Given the description of an element on the screen output the (x, y) to click on. 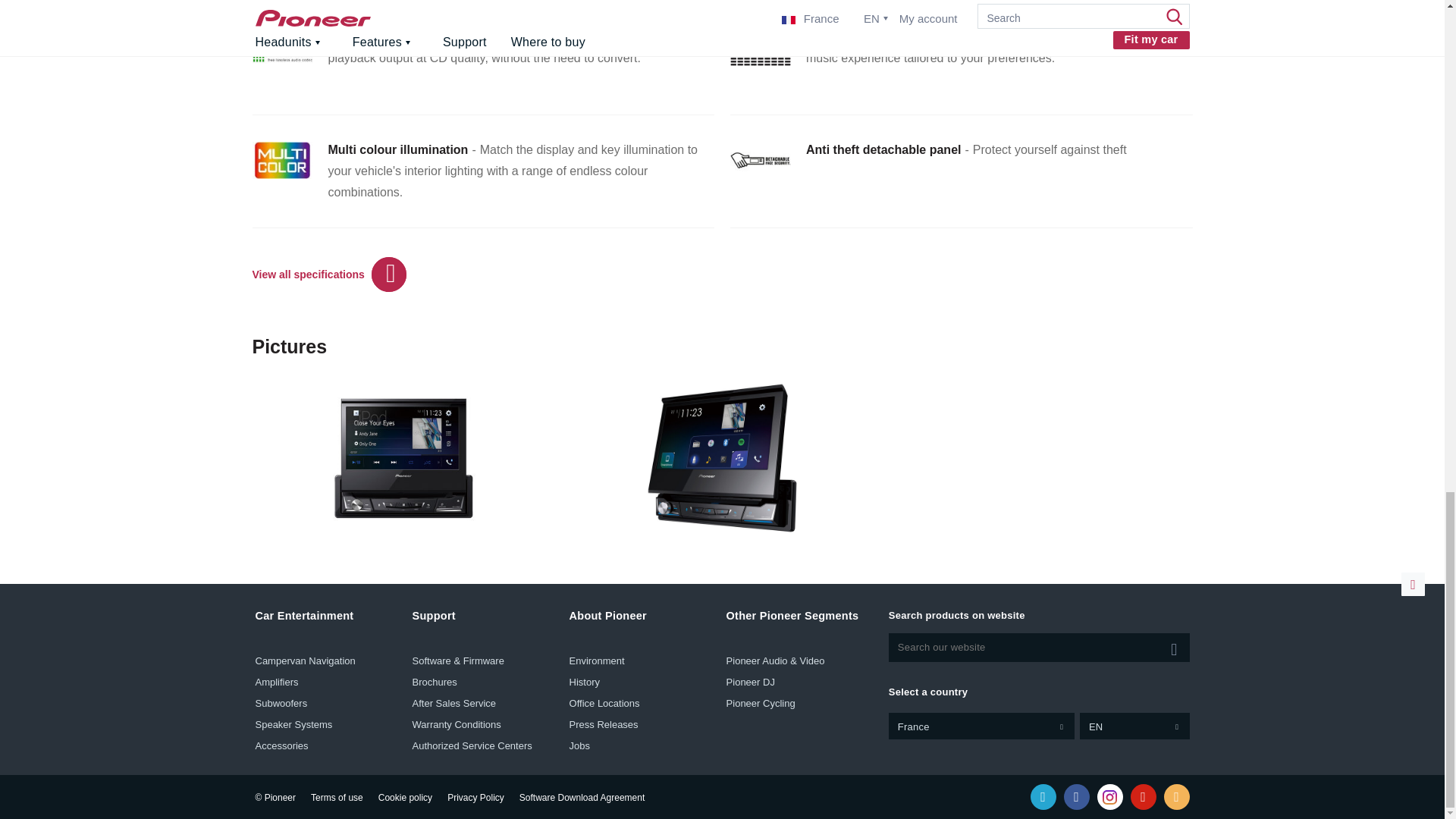
Show all (1173, 647)
